Given the description of an element on the screen output the (x, y) to click on. 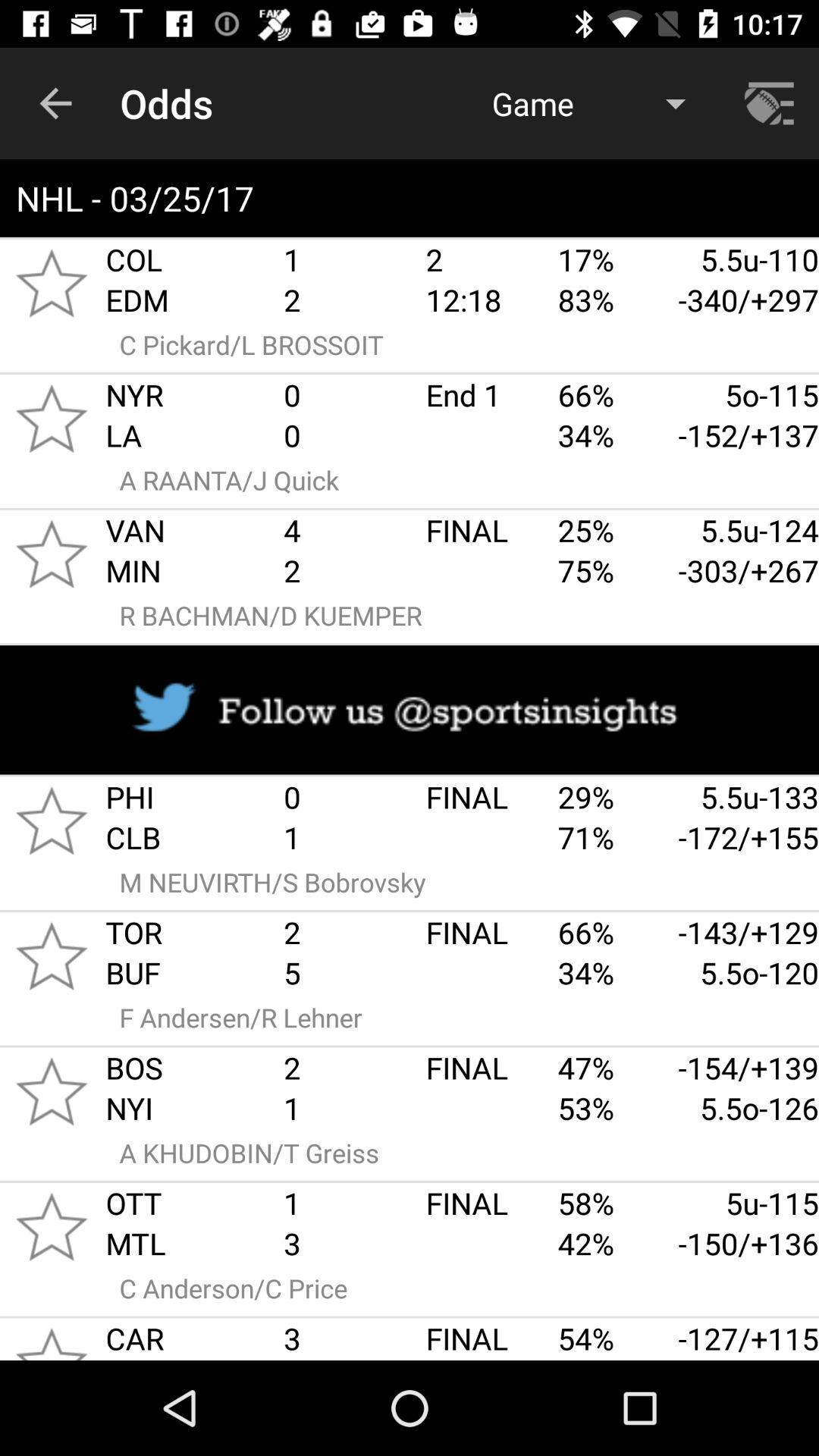
add to favorites (51, 418)
